Given the description of an element on the screen output the (x, y) to click on. 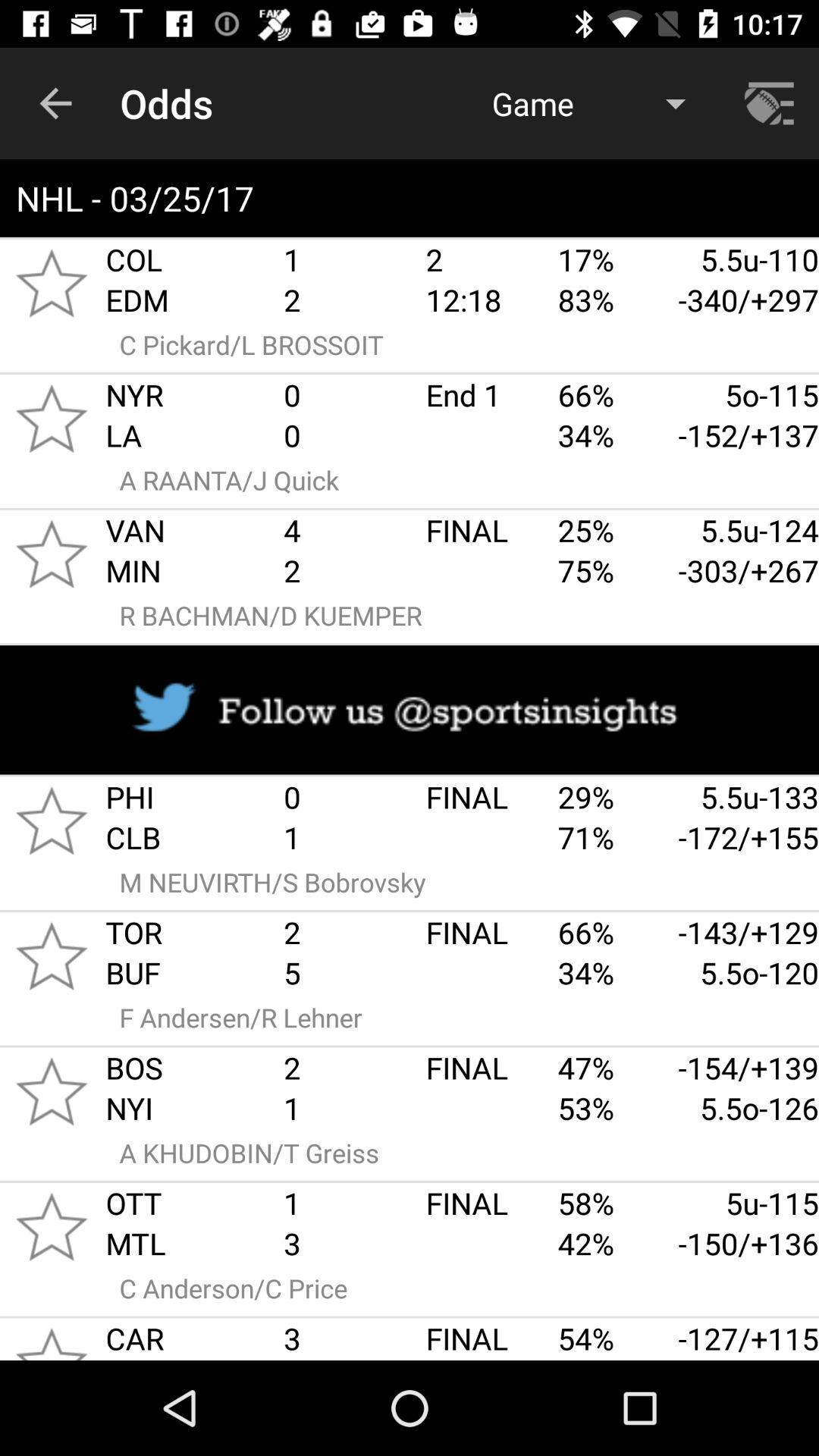
add to favorites (51, 418)
